Given the description of an element on the screen output the (x, y) to click on. 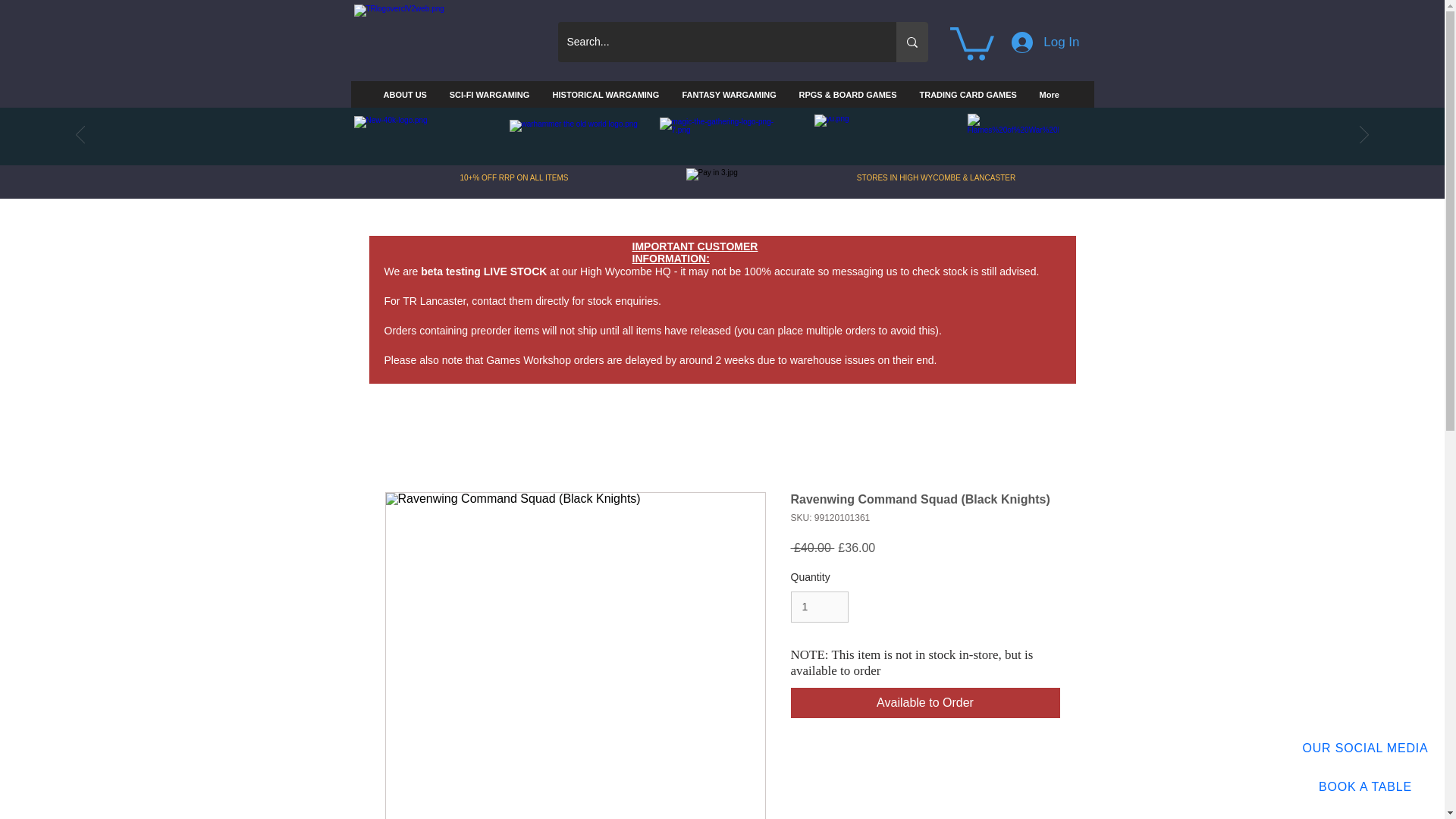
1 (818, 606)
Log In (1045, 42)
